Given the description of an element on the screen output the (x, y) to click on. 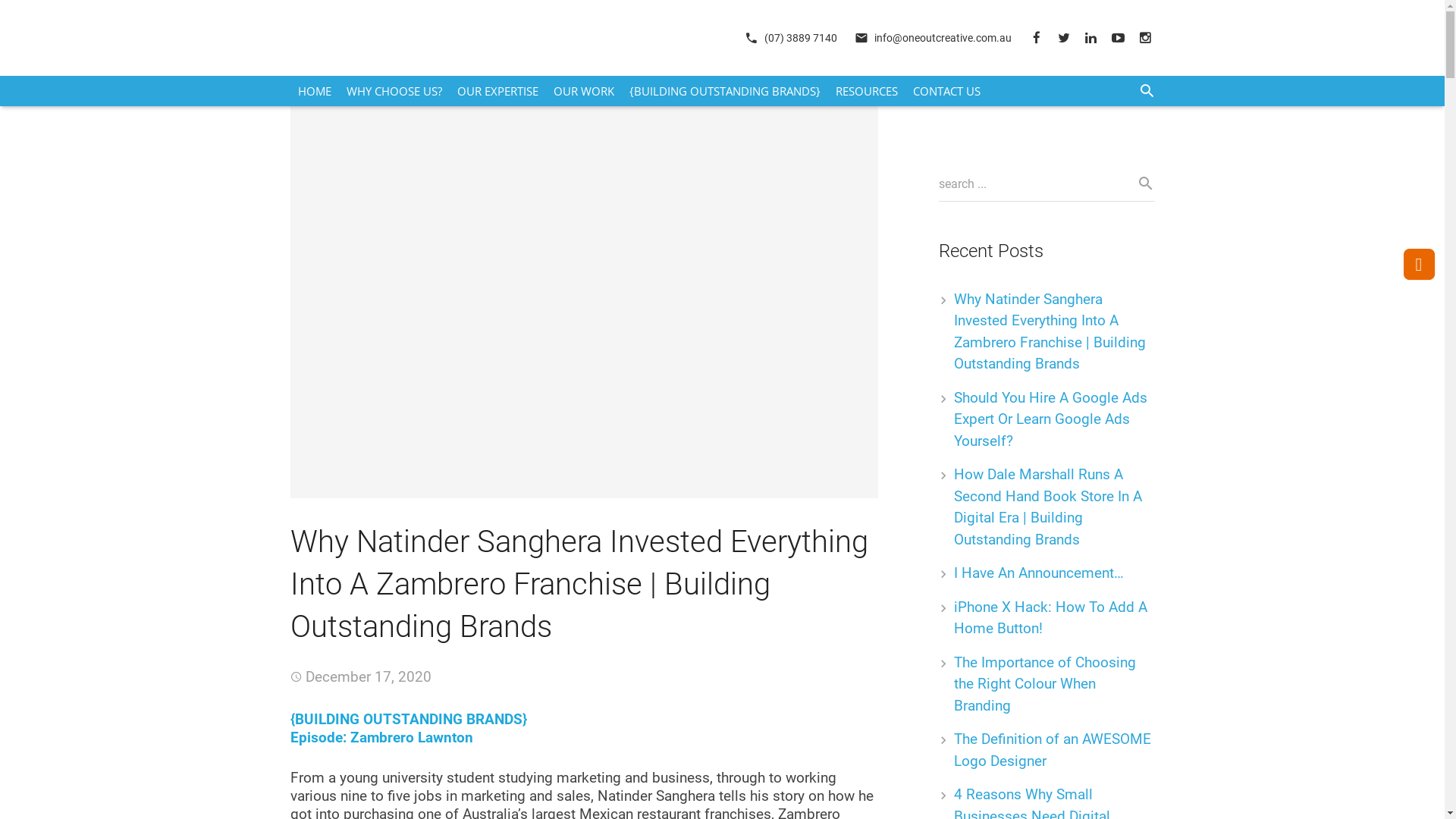
info@oneoutcreative.com.au Element type: text (941, 37)
RESOURCES Element type: text (866, 90)
OUR WORK Element type: text (583, 90)
HOME Element type: text (313, 90)
The Definition of an AWESOME Logo Designer Element type: text (1052, 749)
WHY CHOOSE US? Element type: text (393, 90)
iPhone X Hack: How To Add A Home Button! Element type: text (1050, 617)
OUR EXPERTISE Element type: text (496, 90)
CONTACT US Element type: text (946, 90)
The Importance of Choosing the Right Colour When Branding Element type: text (1044, 683)
(07) 3889 7140 Element type: text (800, 37)
